Given the description of an element on the screen output the (x, y) to click on. 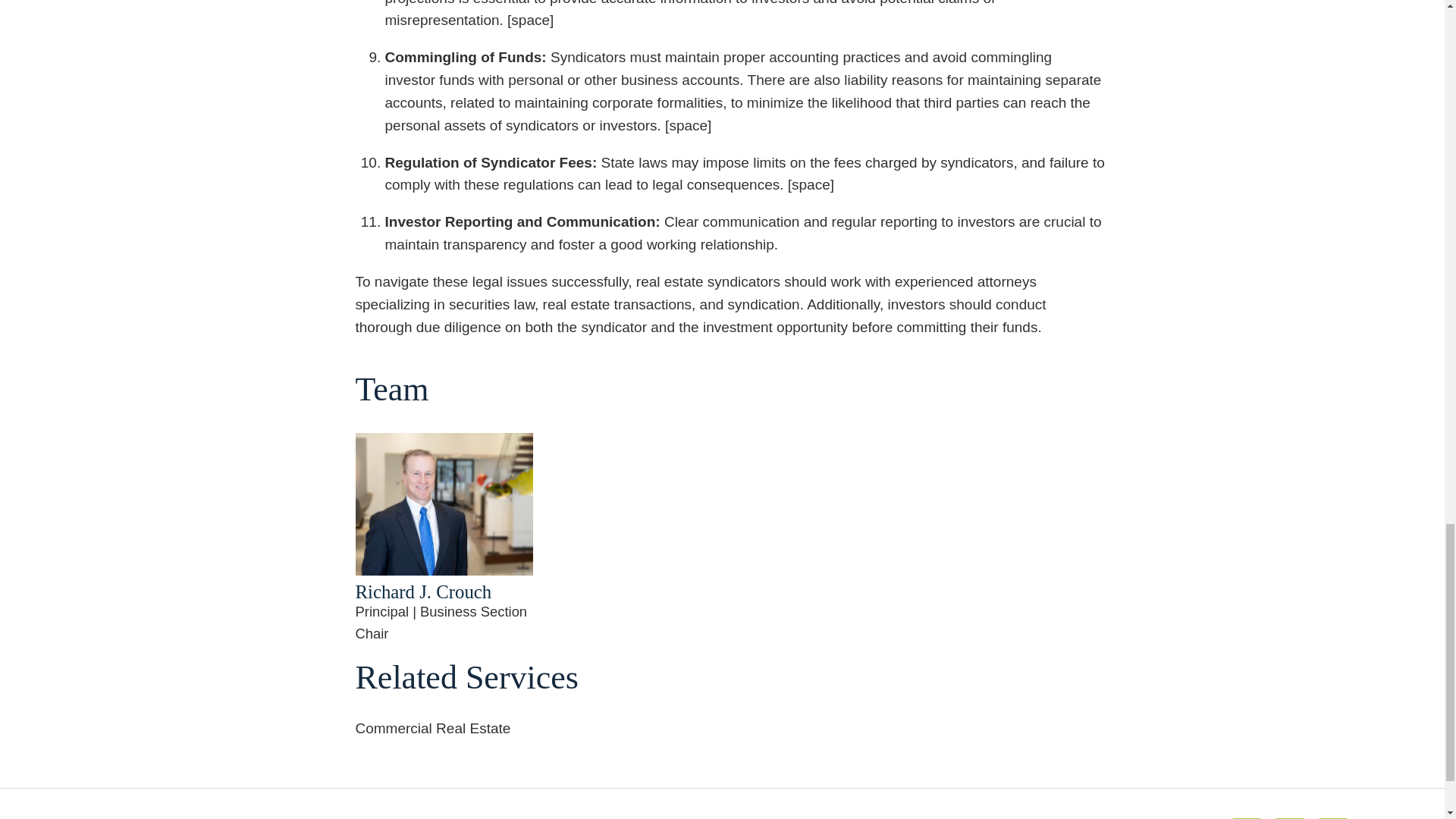
Jump to Page (673, 800)
Commercial Real Estate (433, 728)
Richard J. Crouch (423, 591)
